Given the description of an element on the screen output the (x, y) to click on. 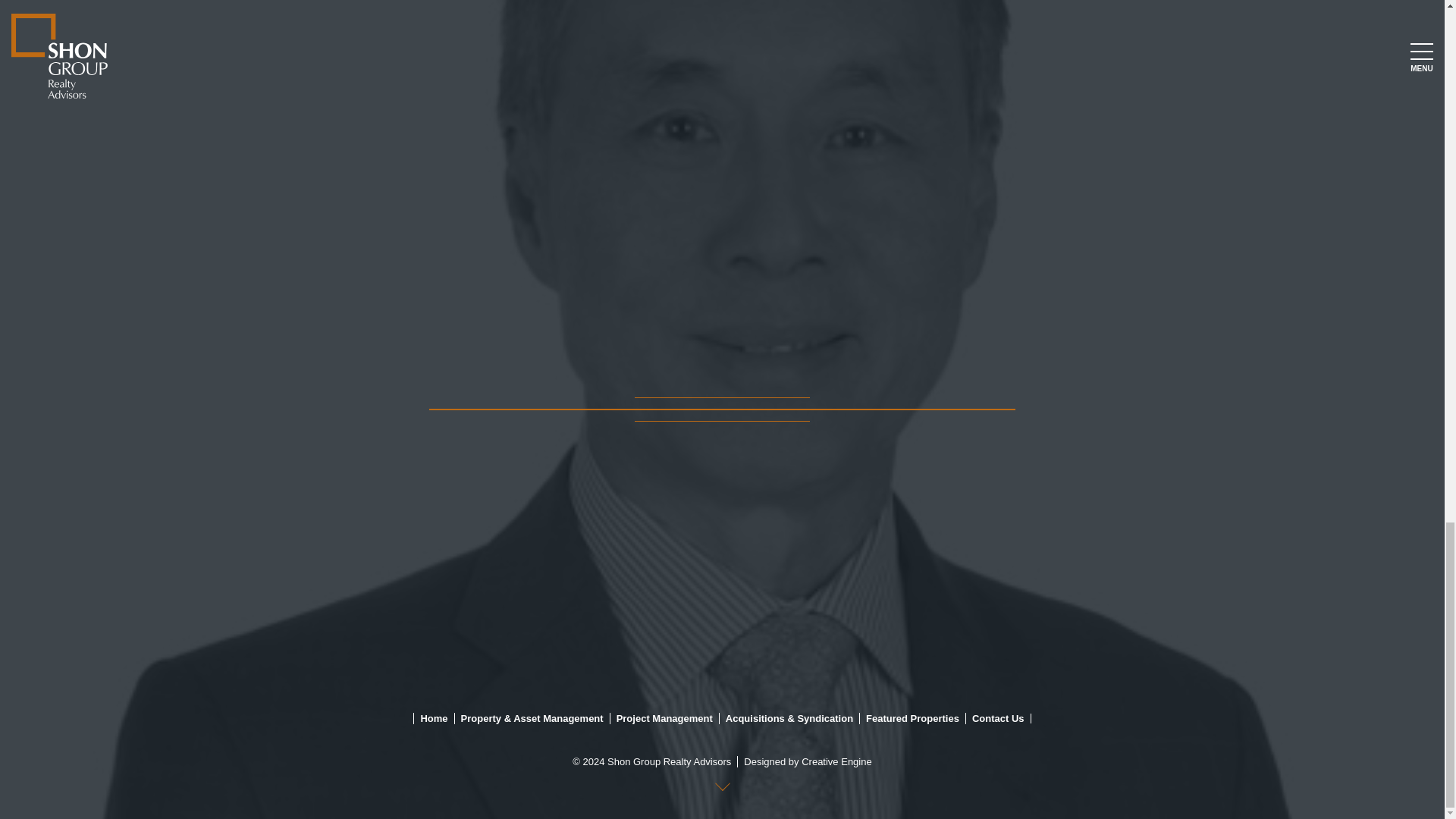
Home (429, 717)
Contact Us (995, 717)
shongroup (42, 407)
Designed by Creative Engine (803, 761)
Featured Properties (909, 717)
Project Management (661, 717)
